Given the description of an element on the screen output the (x, y) to click on. 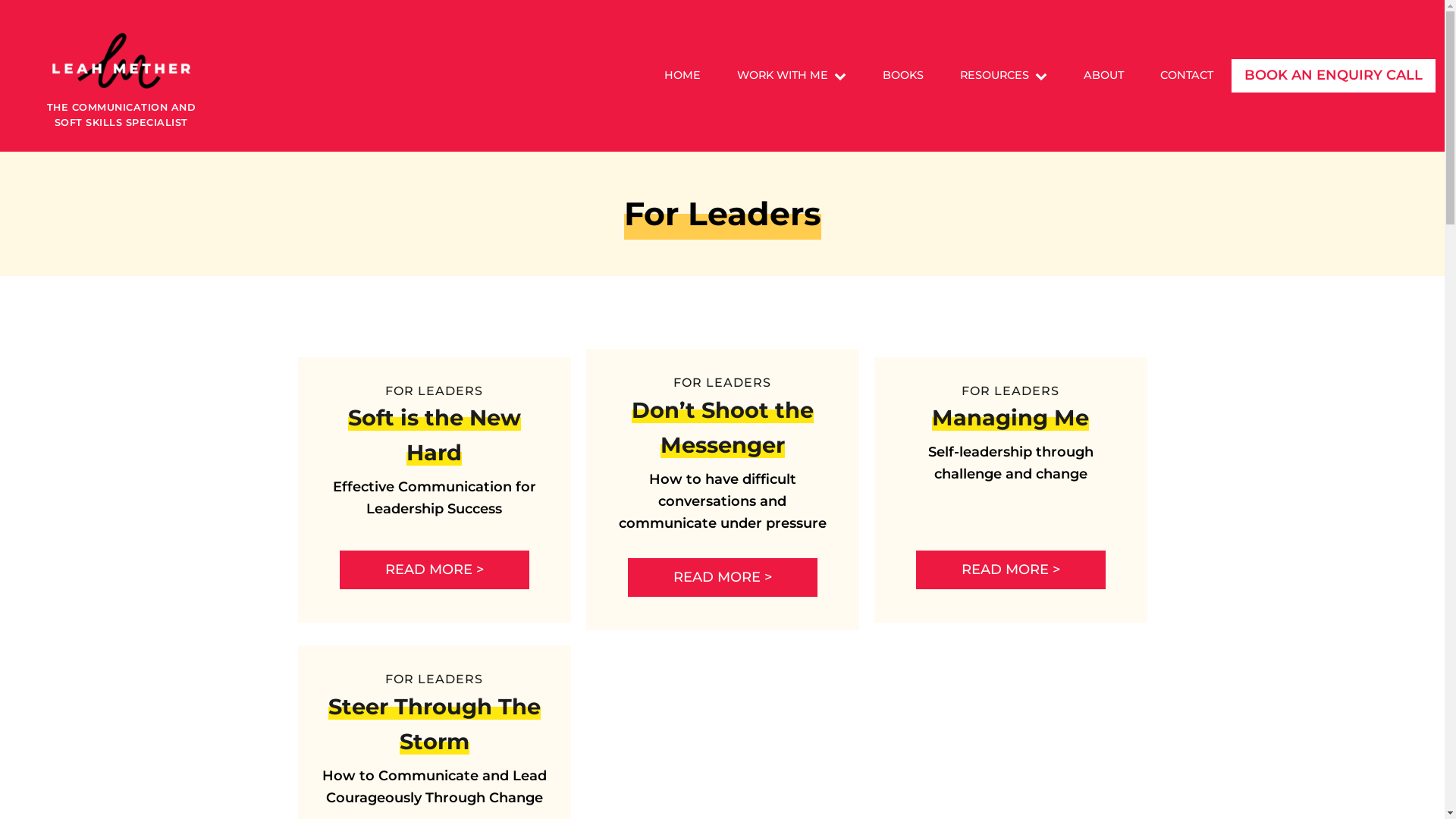
FOR LEADERS Element type: text (434, 678)
WORK WITH ME Element type: text (791, 75)
FOR LEADERS Element type: text (722, 382)
HOME Element type: text (682, 75)
Soft is the New Hard Element type: text (433, 434)
READ MORE > Element type: text (434, 569)
BOOK AN ENQUIRY CALL Element type: text (1333, 75)
READ MORE > Element type: text (1010, 569)
Managing Me Element type: text (1009, 417)
READ MORE > Element type: text (722, 577)
BOOKS Element type: text (902, 75)
CONTACT Element type: text (1186, 75)
FOR LEADERS Element type: text (434, 390)
Steer Through The Storm Element type: text (433, 723)
THE COMMUNICATION AND SOFT SKILLS SPECIALIST Element type: text (121, 75)
ABOUT Element type: text (1103, 75)
RESOURCES Element type: text (1003, 75)
FOR LEADERS Element type: text (1010, 390)
